Given the description of an element on the screen output the (x, y) to click on. 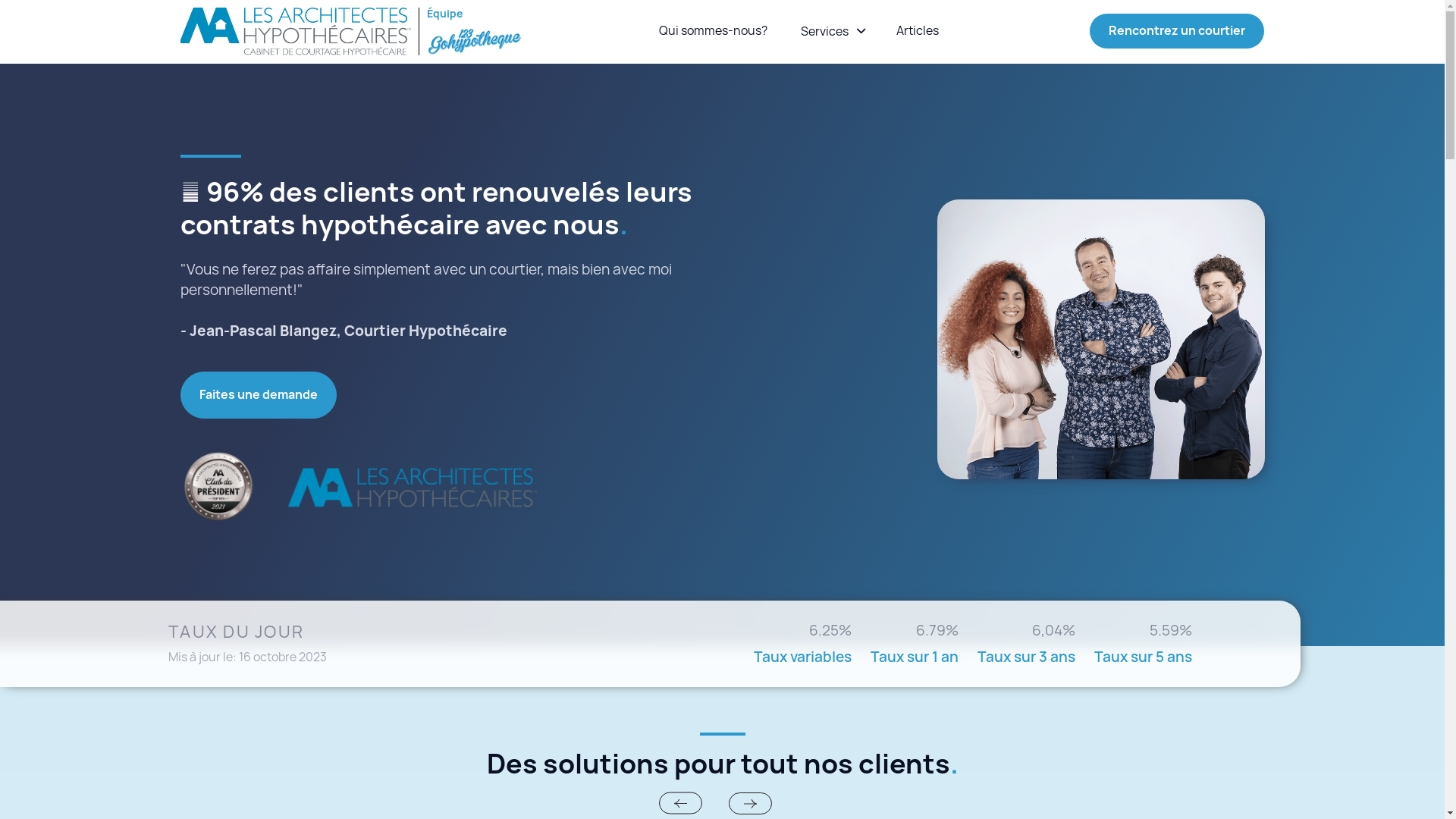
Rencontrez un courtier Element type: text (1176, 30)
Faites une demande Element type: text (258, 394)
Articles Element type: text (917, 30)
Qui sommes-nous? Element type: text (712, 30)
